Given the description of an element on the screen output the (x, y) to click on. 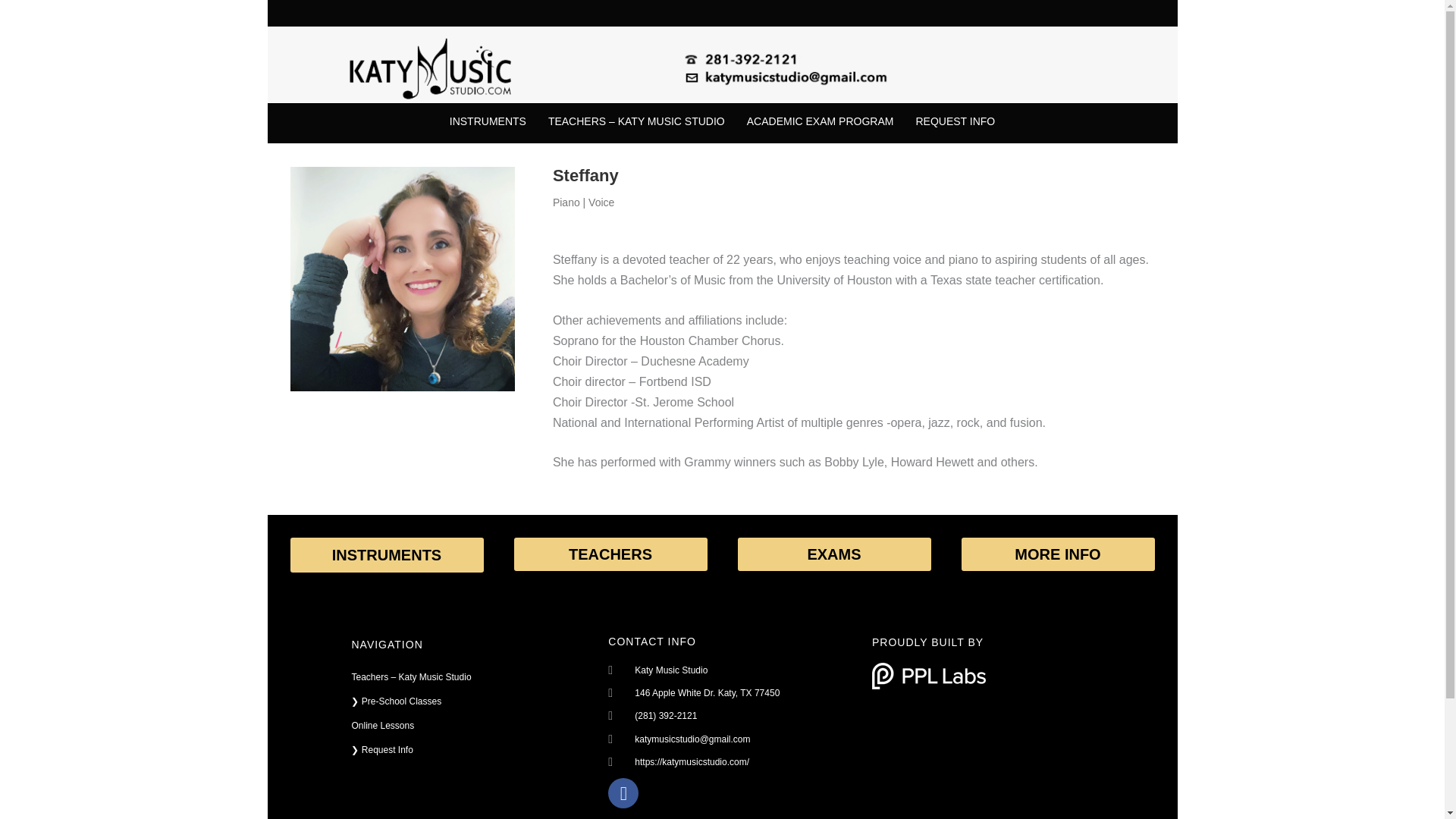
INSTRUMENTS (487, 101)
INSTRUMENTS (487, 121)
ACADEMIC EXAM PROGRAM (820, 121)
cropped-logo-katy-qf1dls8penuaxwako68y80476cdjji76dtqx7nn36w (431, 64)
REQUEST INFO (955, 121)
